Given the description of an element on the screen output the (x, y) to click on. 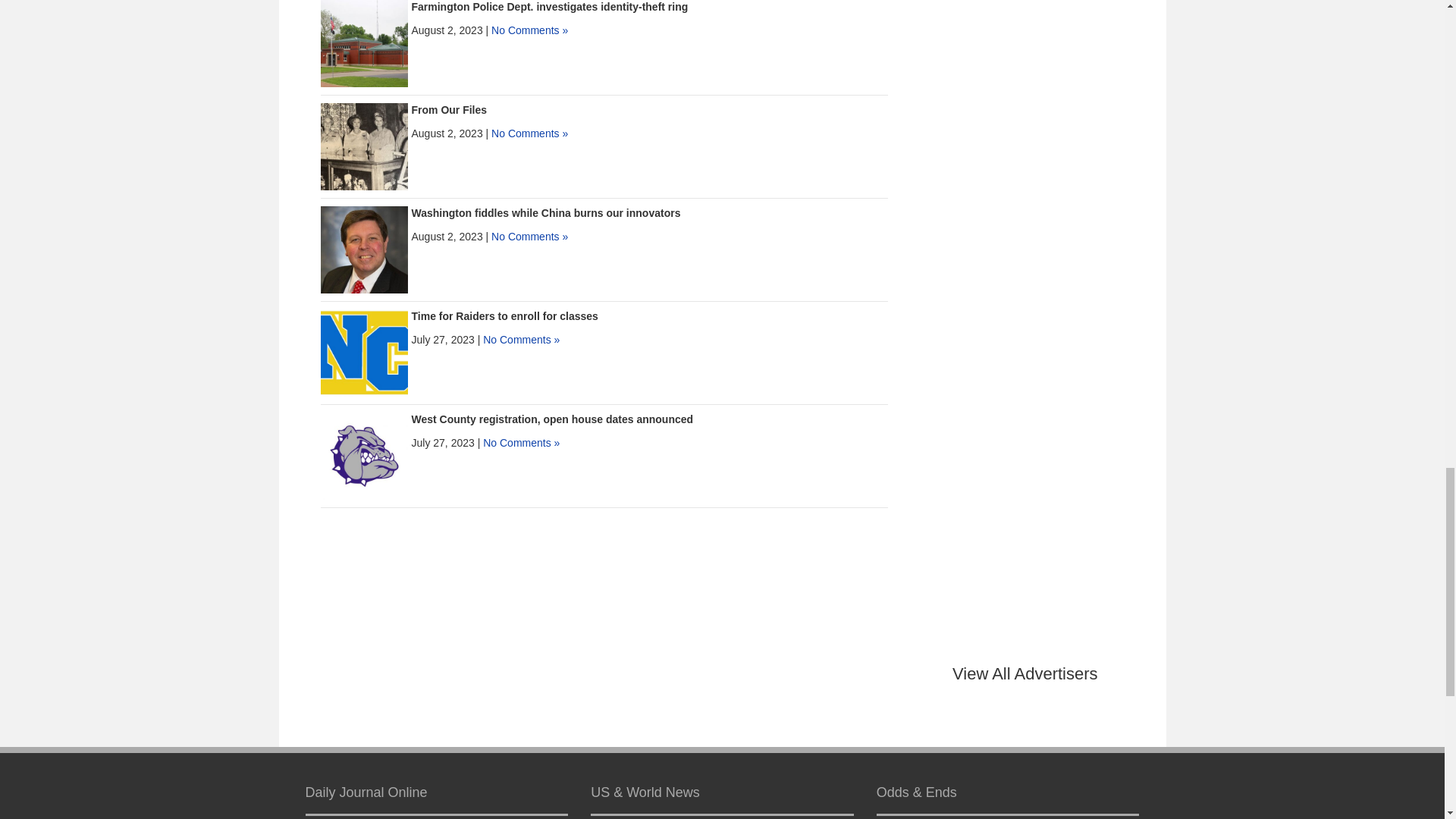
Washington fiddles while China burns our innovators (363, 248)
Time for Raiders to enroll for classes (363, 351)
West County registration, open house dates announced (551, 419)
Washington fiddles while China burns our innovators (544, 213)
From Our Files (363, 145)
From Our Files (448, 110)
West County registration, open house dates announced (363, 454)
Time for Raiders to enroll for classes (503, 316)
Farmington Police Dept. investigates identity-theft ring (548, 6)
Farmington Police Dept. investigates identity-theft ring (363, 42)
